Given the description of an element on the screen output the (x, y) to click on. 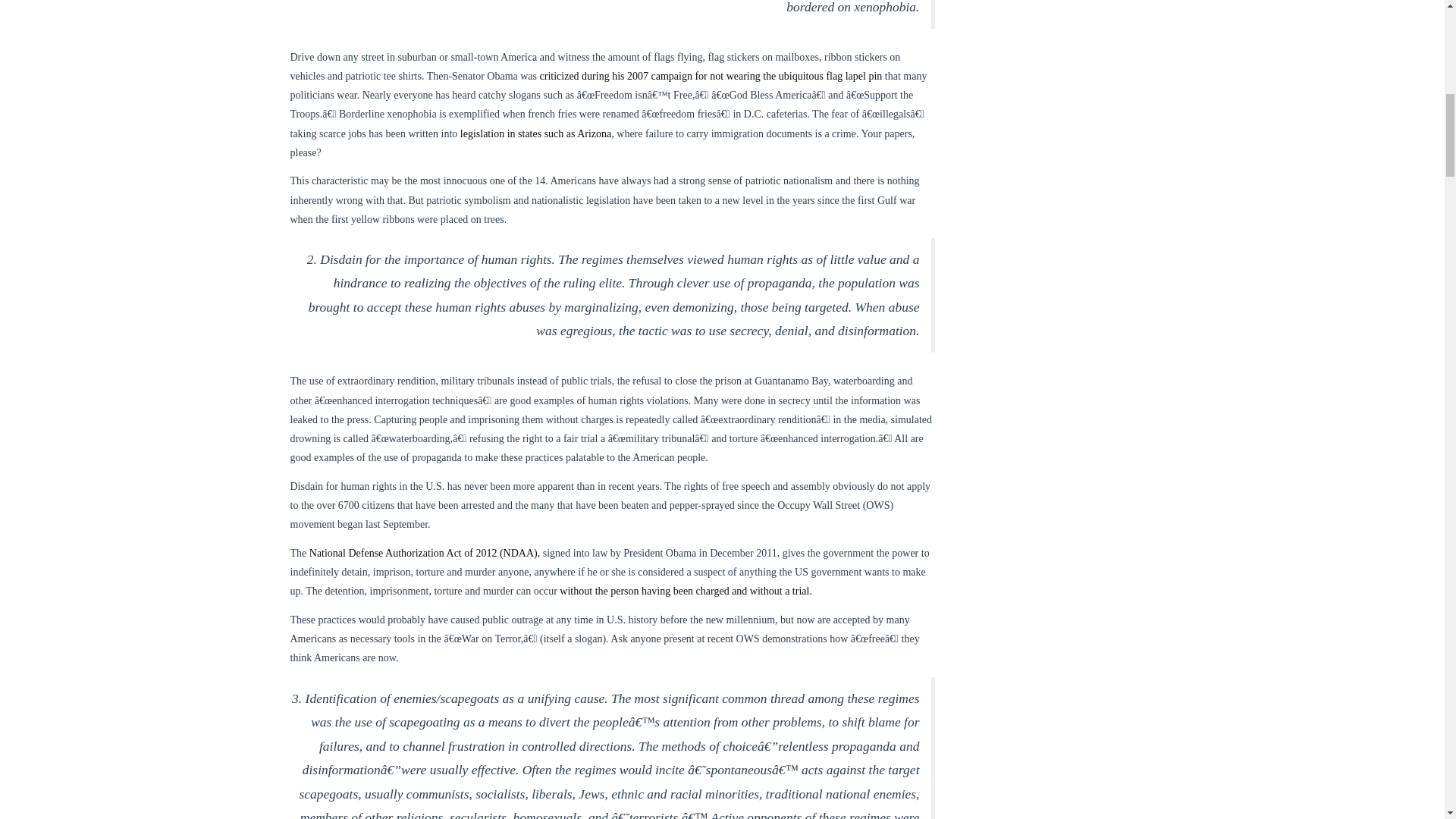
without the person having been charged and without a trial. (685, 591)
legislation in states such as Arizona (535, 133)
